Given the description of an element on the screen output the (x, y) to click on. 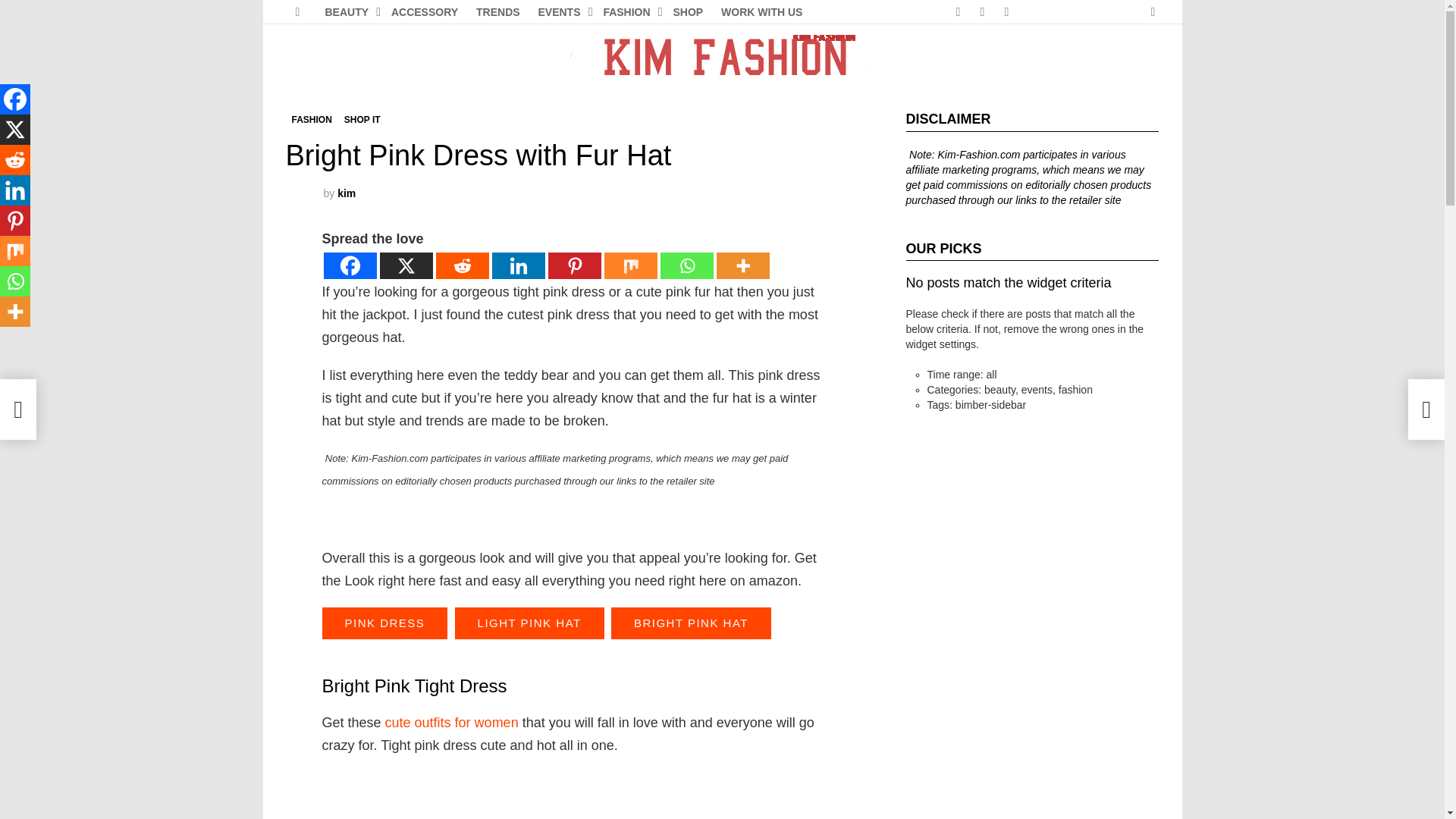
Mix (630, 265)
Linkedin (518, 265)
SHOP (688, 11)
EVENTS (560, 11)
X (405, 265)
ACCESSORY (424, 11)
Menu (296, 12)
Facebook (956, 11)
More (742, 265)
Pinterest (1005, 11)
Pinterest (573, 265)
TRENDS (497, 11)
Facebook (349, 265)
kim (346, 193)
FASHION (311, 119)
